Given the description of an element on the screen output the (x, y) to click on. 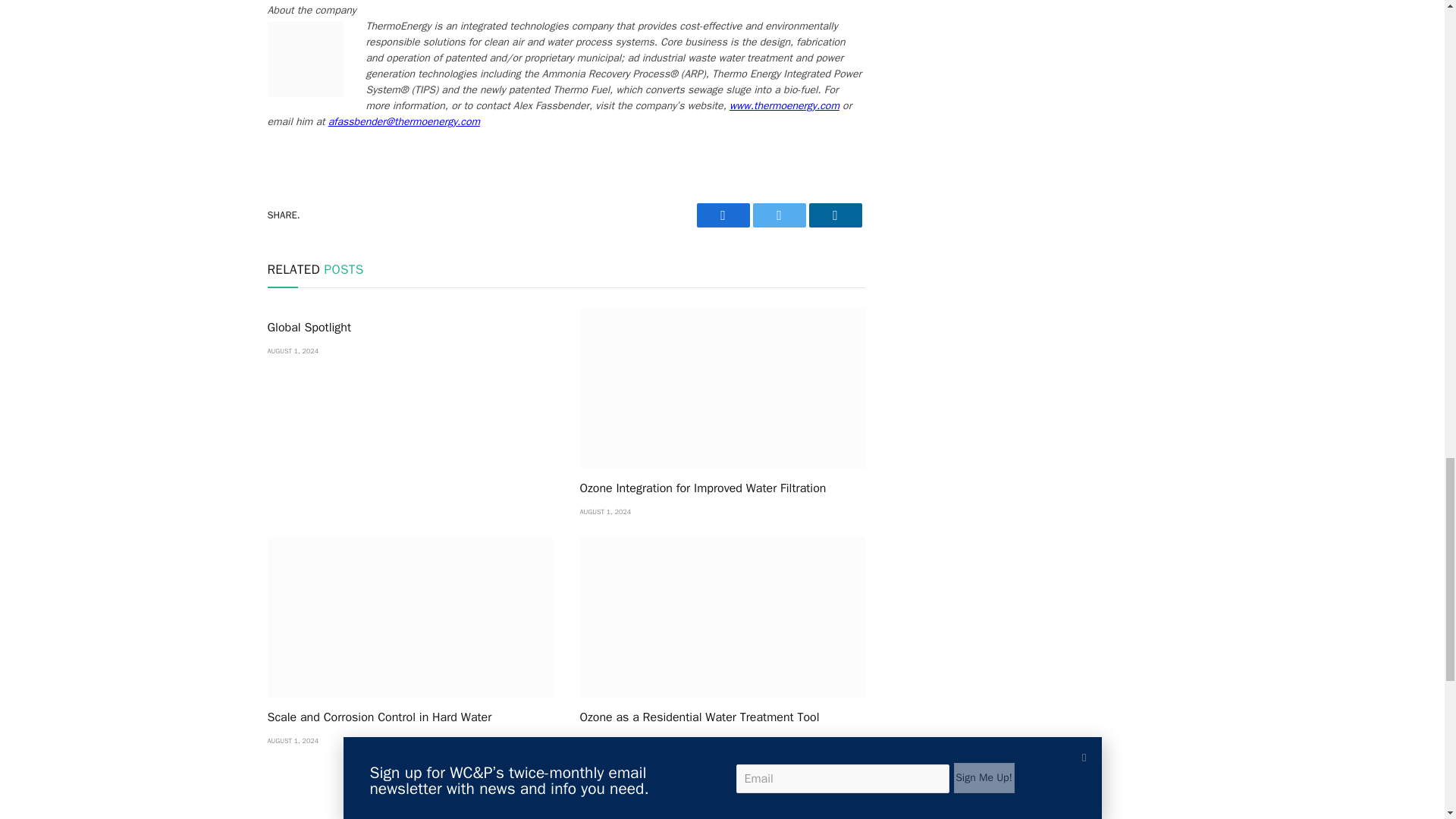
Share on Twitter (778, 215)
Share on Twitter (722, 215)
Share on LinkedIn (834, 215)
